Given the description of an element on the screen output the (x, y) to click on. 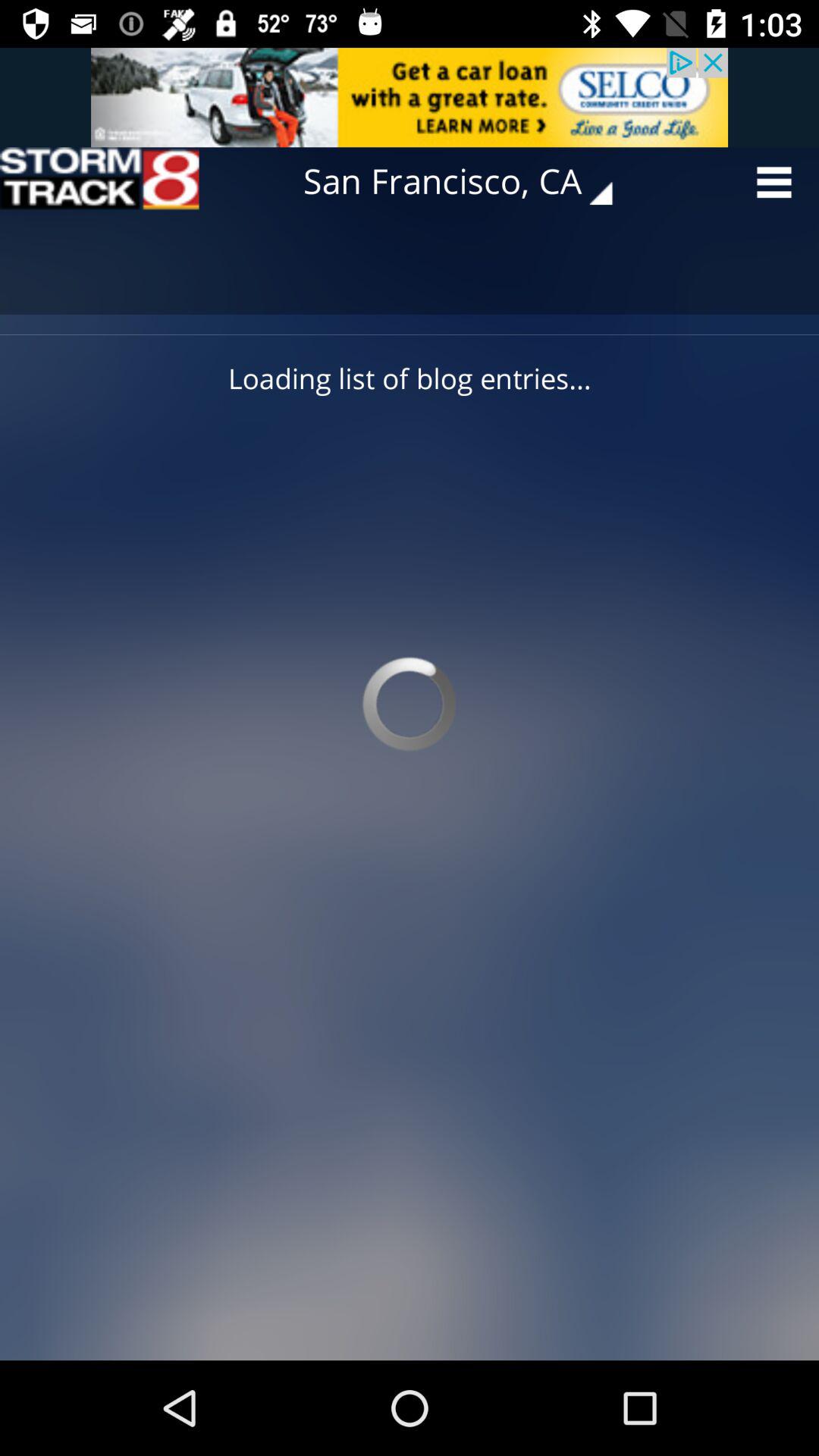
advertisement click (409, 97)
